Given the description of an element on the screen output the (x, y) to click on. 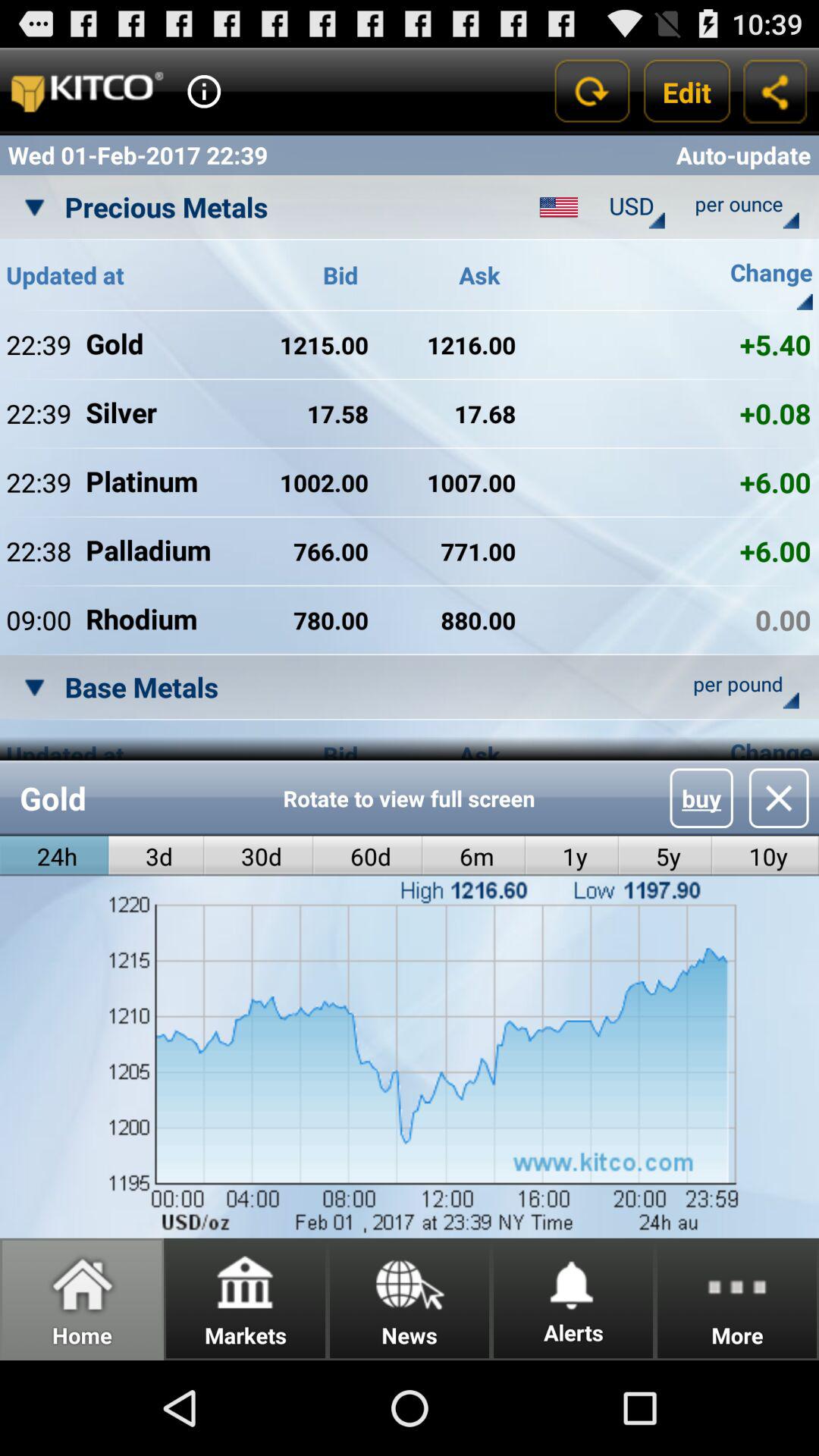
turn off 1y radio button (571, 856)
